Given the description of an element on the screen output the (x, y) to click on. 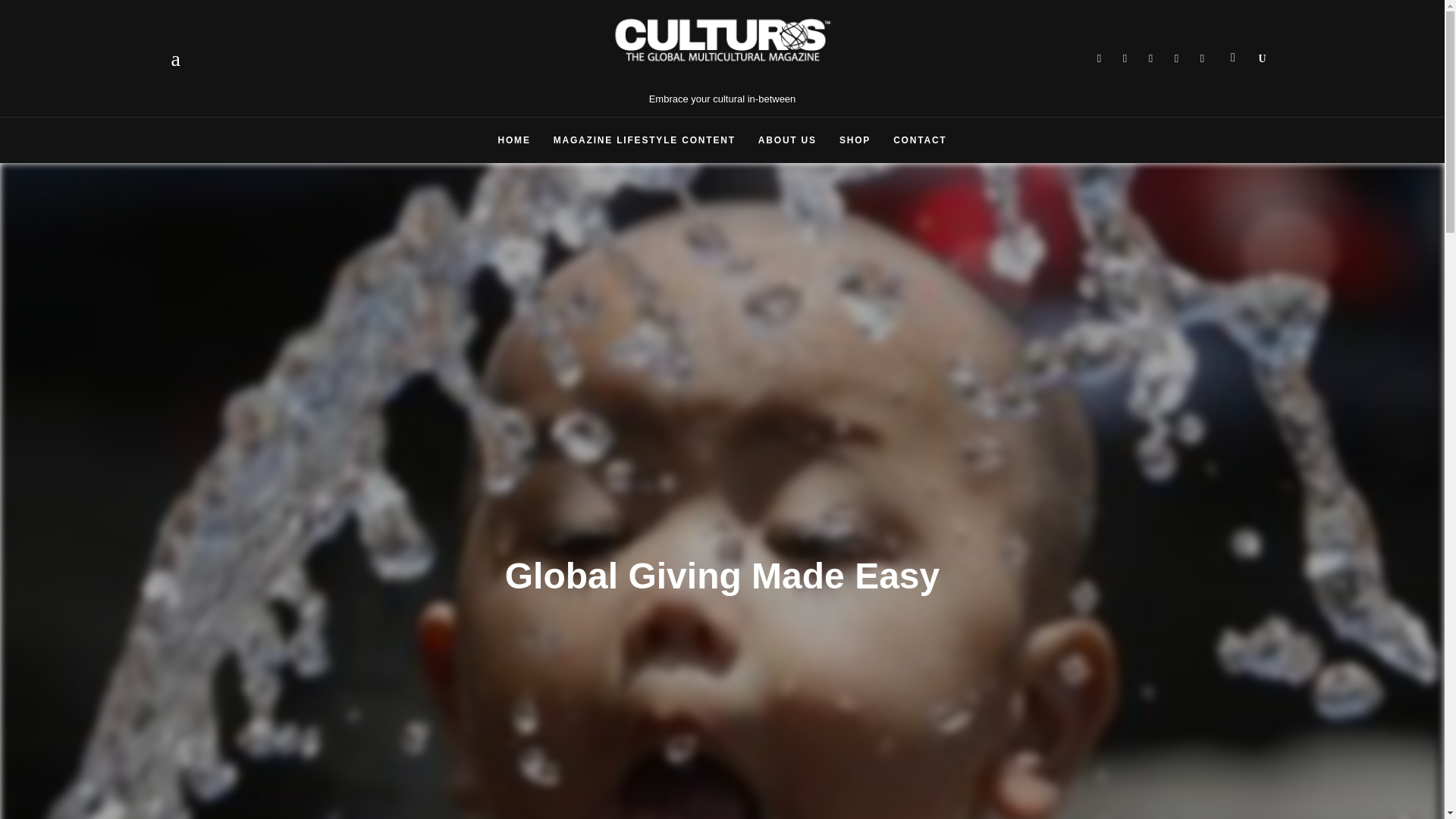
Culturs (1150, 58)
CULTURS TWITTER (1125, 58)
HOME (513, 140)
Cultursmag (1202, 58)
CULTURS FACEBOOK PAGE (1099, 58)
Cultursmag (1125, 58)
MAGAZINE LIFESTYLE CONTENT (643, 140)
Cultursmag (1099, 58)
MENU (180, 58)
CULTURS INSTAGRAM (1202, 58)
CULTURS YOUTUBE CHANNEL (1176, 58)
Cultursmag (1176, 58)
CULTURS PINTEREST PAGE (1150, 58)
